Given the description of an element on the screen output the (x, y) to click on. 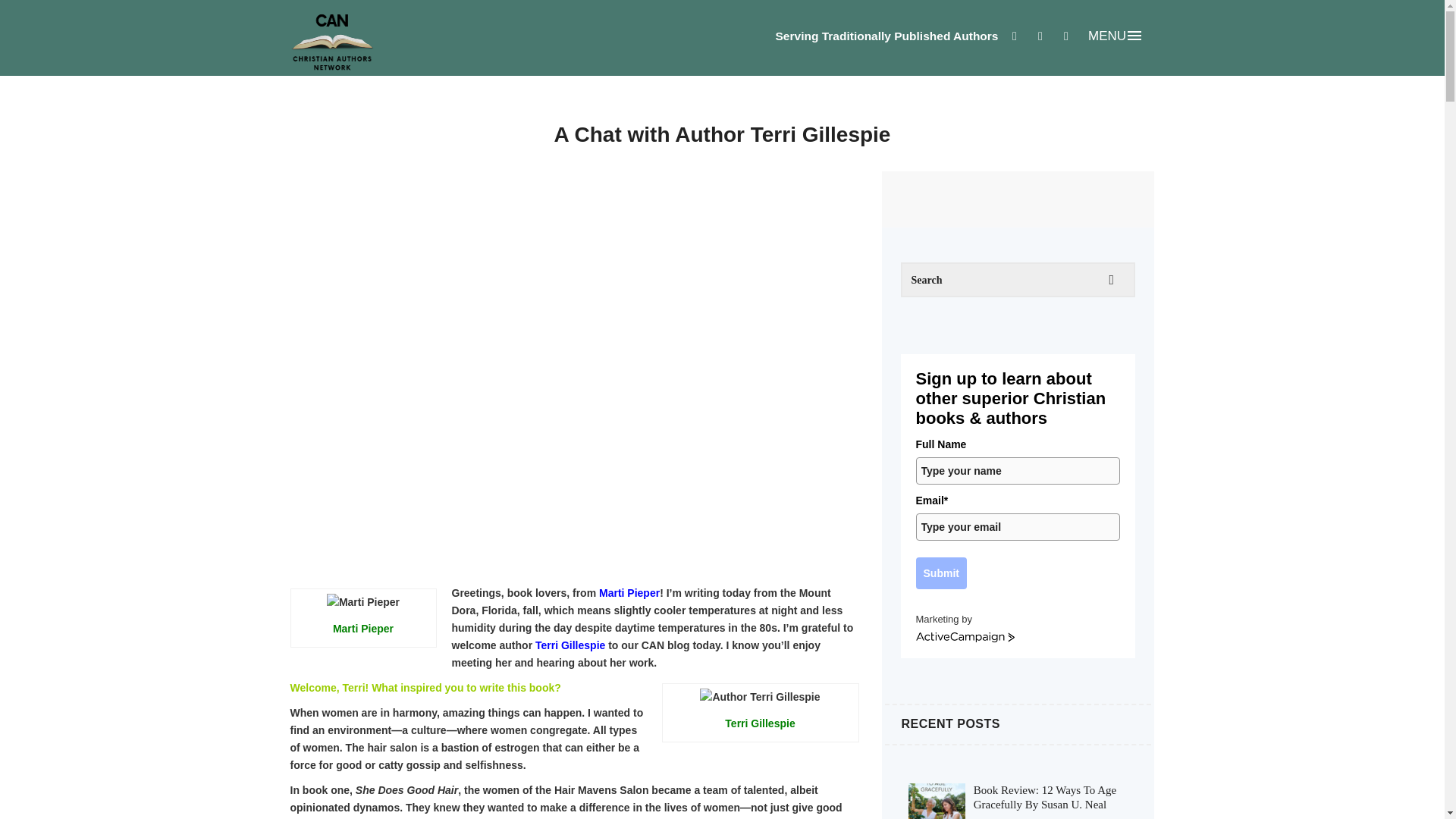
Terri Gillespie (570, 645)
Go (1111, 279)
Marti Pieper (628, 592)
Submit (940, 572)
Go (1111, 279)
Book Review: 12 Ways To Age Gracefully By Susan U. Neal (1045, 796)
. (1137, 612)
ActiveCampaign (964, 637)
MENU (1116, 35)
